Given the description of an element on the screen output the (x, y) to click on. 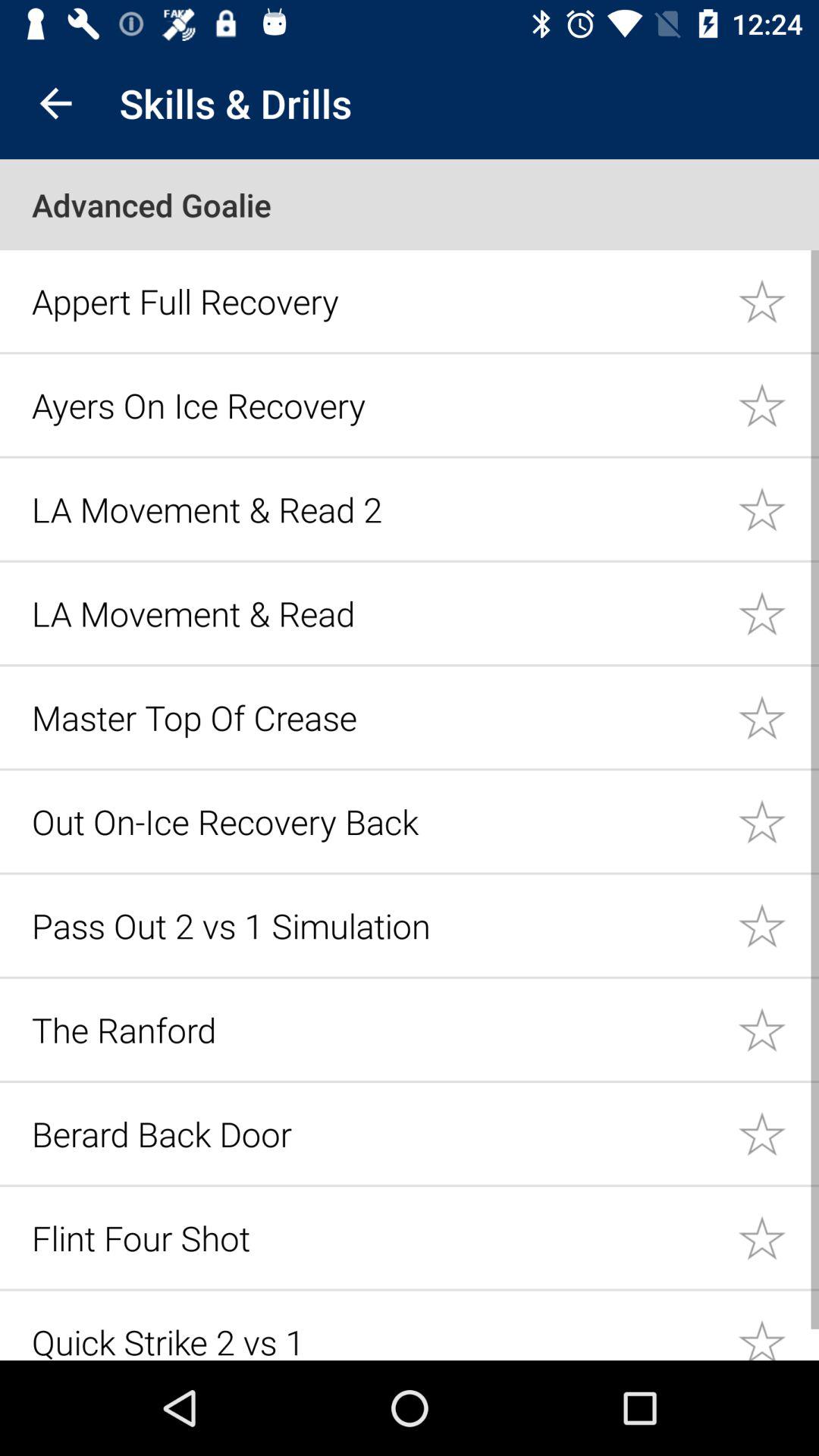
launch item below the la movement & read item (376, 717)
